Given the description of an element on the screen output the (x, y) to click on. 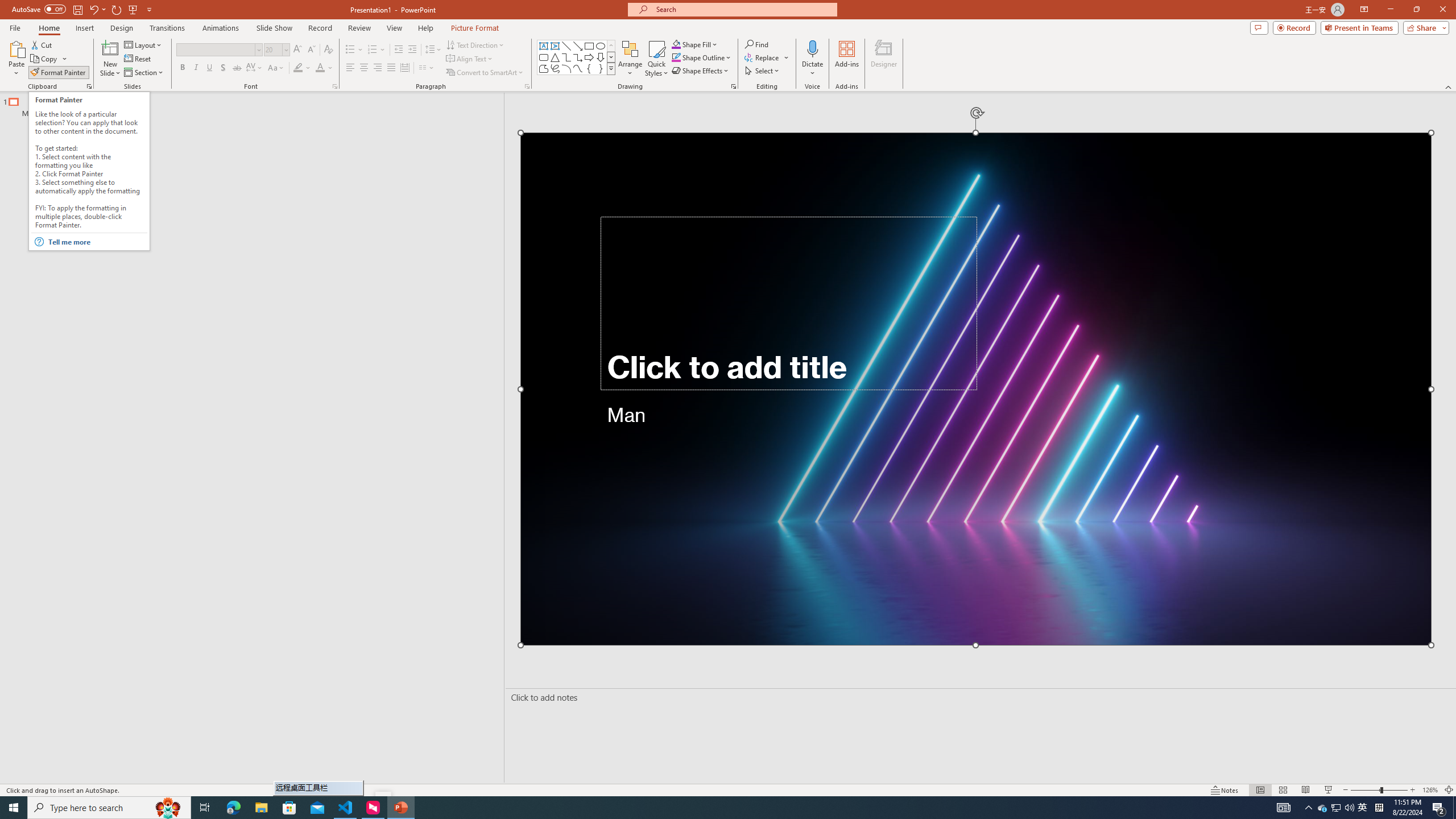
Shape Outline (701, 56)
Line Spacing (433, 49)
Distributed (404, 67)
Text Direction (476, 44)
Justify (390, 67)
